Given the description of an element on the screen output the (x, y) to click on. 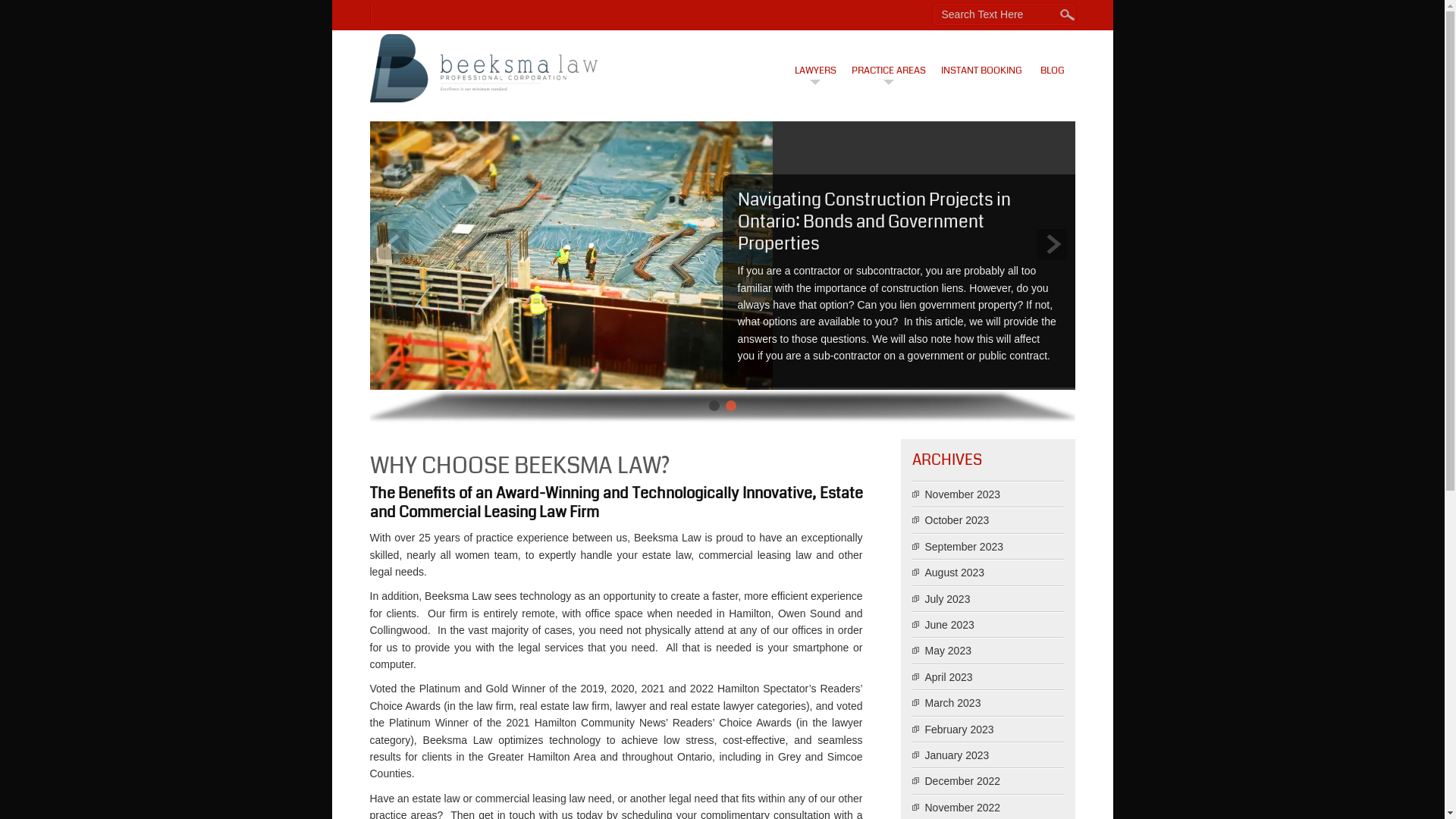
March 2023 Element type: text (953, 702)
May 2023 Element type: text (948, 650)
August 2023 Element type: text (955, 572)
June 2023 Element type: text (949, 624)
October 2023 Element type: text (957, 520)
Next Element type: text (1051, 244)
December 2022 Element type: text (963, 781)
February 2023 Element type: text (959, 729)
July 2023 Element type: text (947, 599)
Prev Element type: text (393, 244)
November 2022 Element type: text (963, 807)
BLOG Element type: text (1051, 60)
January 2023 Element type: text (957, 755)
WHY CHOOSE BEEKSMA LAW? Element type: text (616, 467)
2 Element type: text (729, 405)
PRACTICE AREAS Element type: text (888, 60)
September 2023 Element type: text (964, 546)
April 2023 Element type: text (948, 677)
November 2023 Element type: text (963, 494)
Search Element type: text (33, 13)
1 Element type: text (713, 405)
LAWYERS Element type: text (814, 60)
INSTANT BOOKING Element type: text (981, 60)
